Given the description of an element on the screen output the (x, y) to click on. 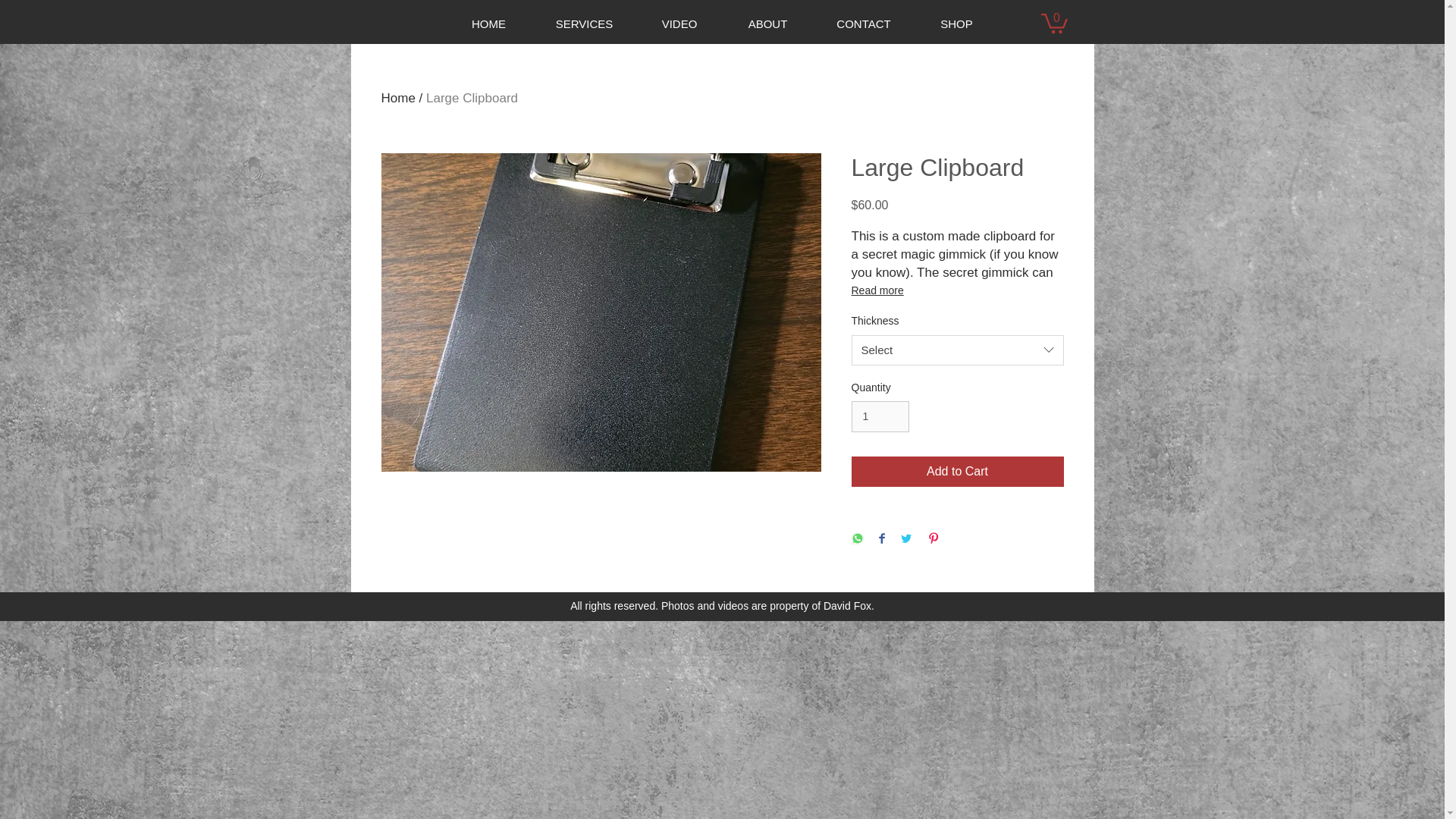
Read more (956, 289)
Home (397, 97)
ABOUT (767, 24)
0 (1054, 22)
HOME (488, 24)
SERVICES (584, 24)
Large Clipboard (472, 97)
1 (879, 416)
Add to Cart (956, 471)
CONTACT (863, 24)
